Given the description of an element on the screen output the (x, y) to click on. 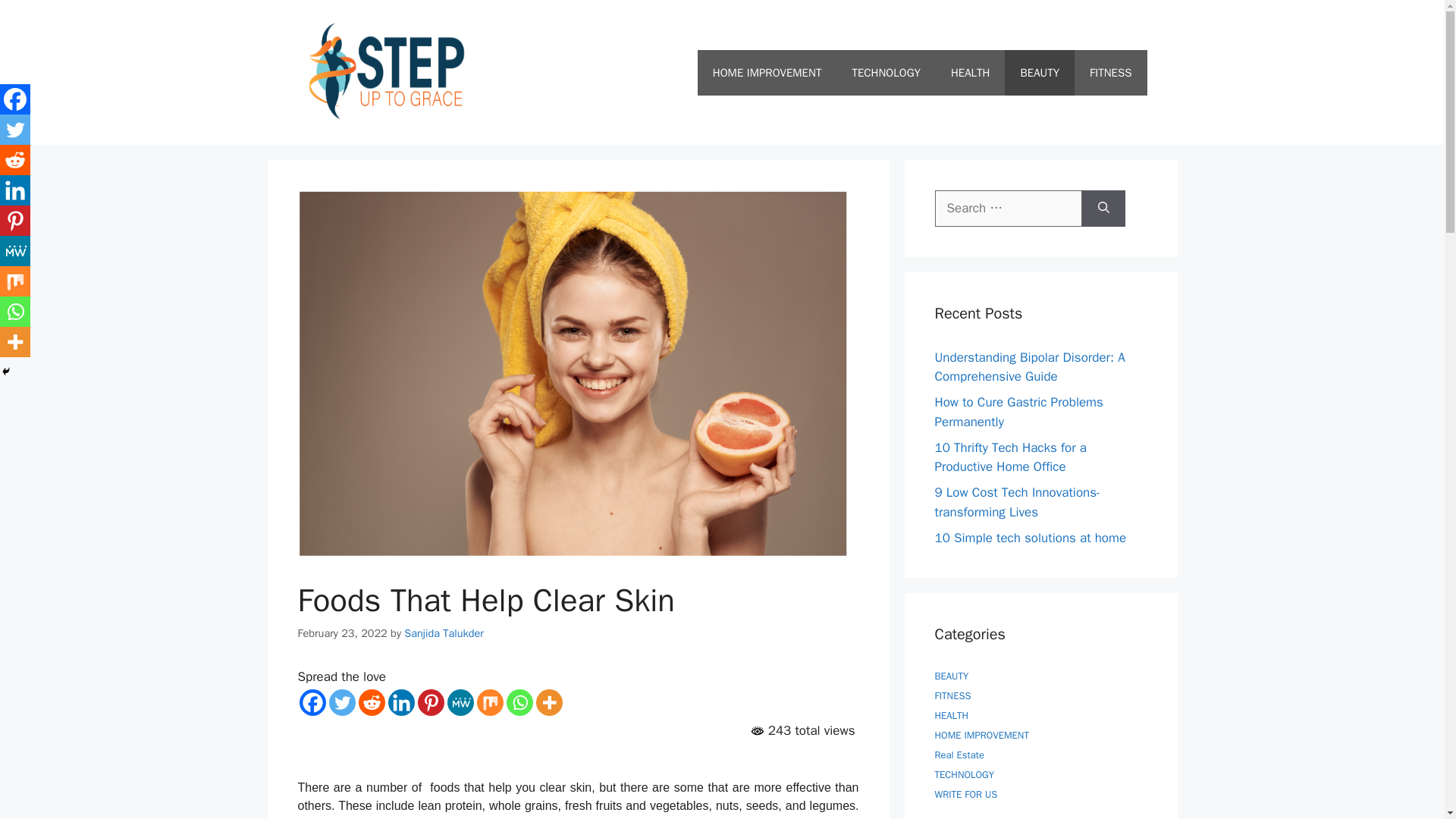
Twitter (15, 129)
HEALTH (971, 72)
Whatsapp (519, 702)
How to Cure Gastric Problems Permanently (1018, 411)
FITNESS (1110, 72)
HOME IMPROVEMENT (767, 72)
MeWe (460, 702)
BEAUTY (1039, 72)
10 Thrifty Tech Hacks for a Productive Home Office (1010, 457)
View all posts by Sanjida Talukder (443, 632)
More (548, 702)
Facebook (311, 702)
TECHNOLOGY (885, 72)
Sanjida Talukder (443, 632)
Facebook (15, 99)
